Given the description of an element on the screen output the (x, y) to click on. 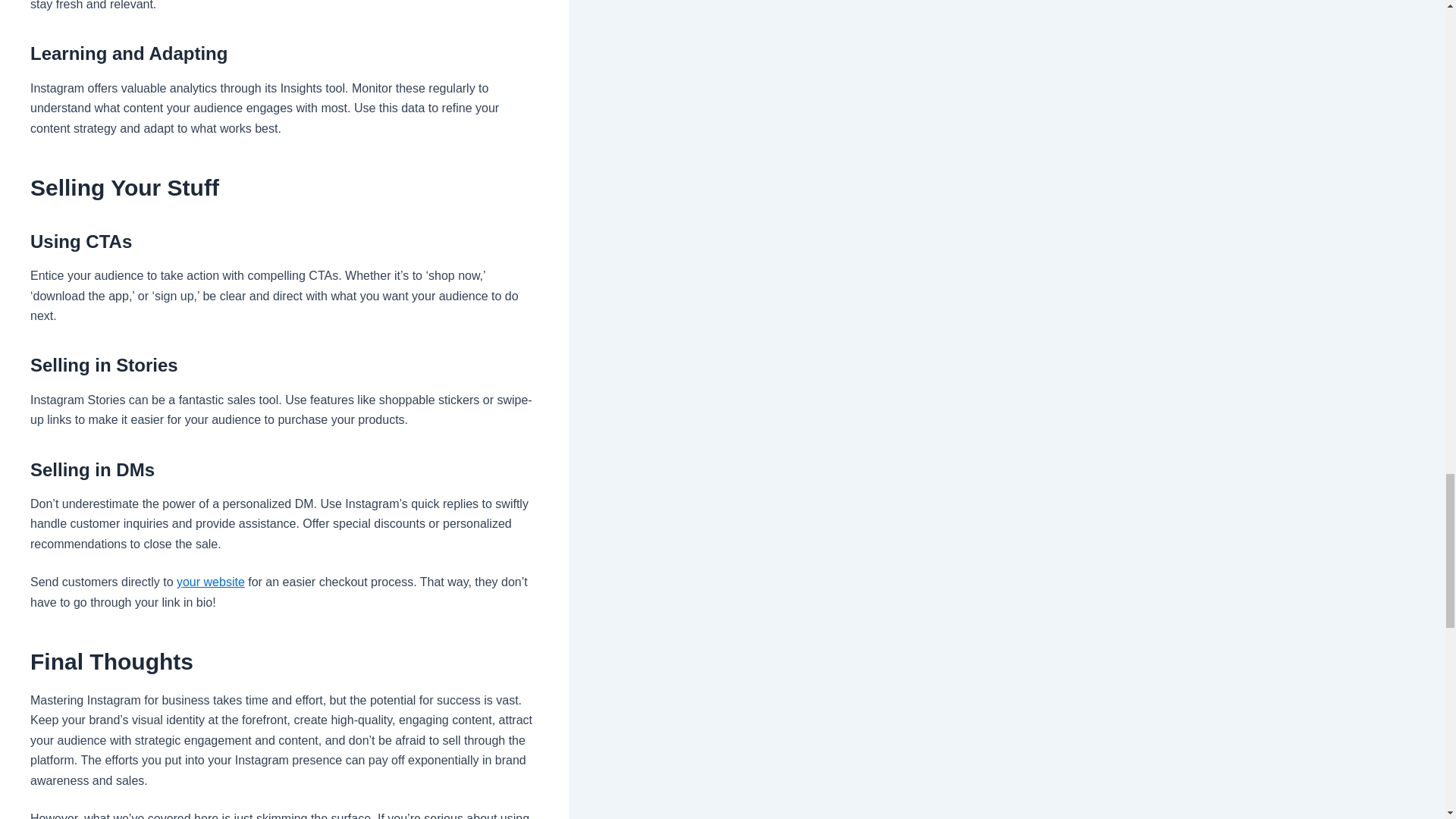
your website (210, 581)
